Given the description of an element on the screen output the (x, y) to click on. 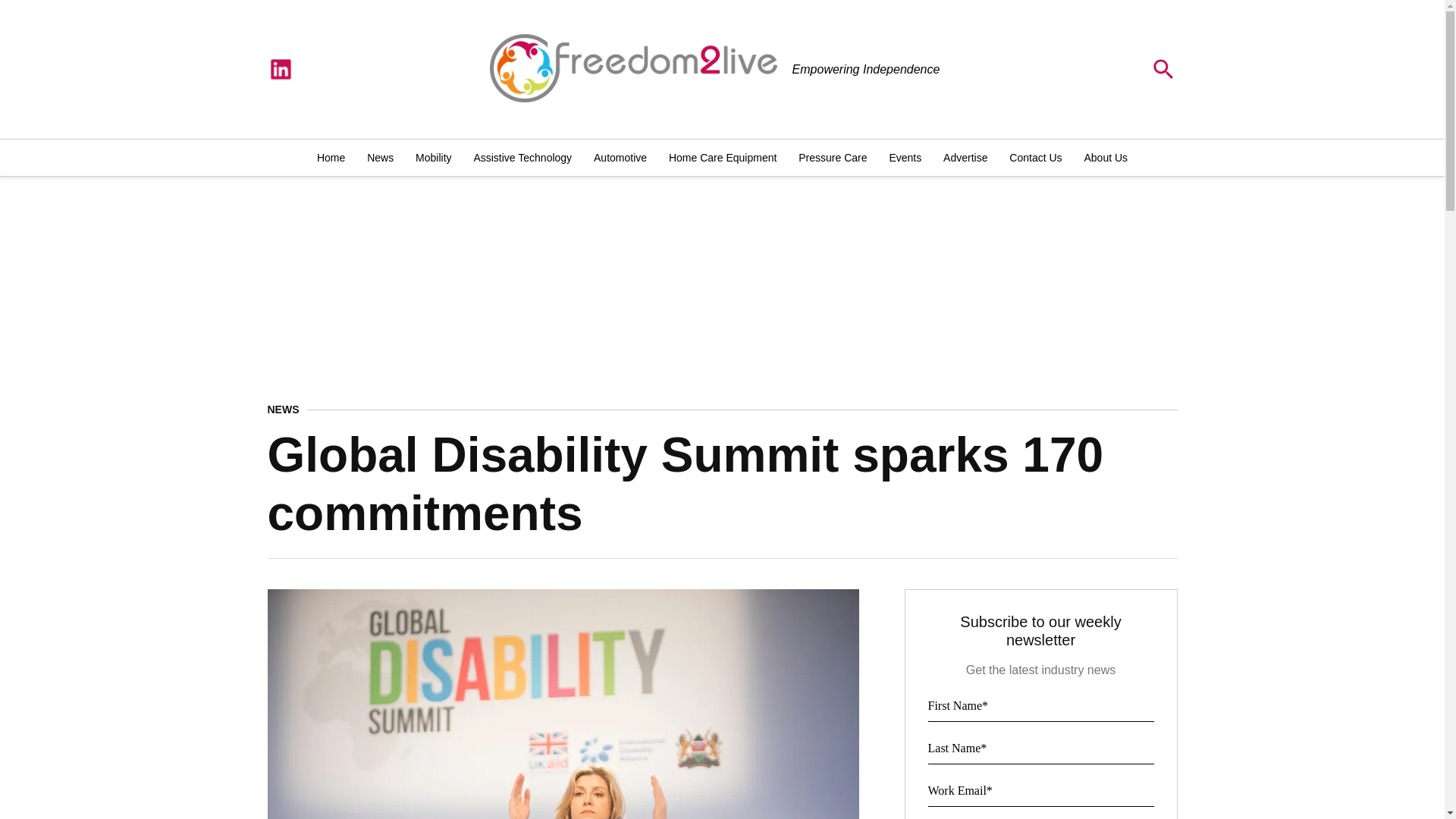
Events (904, 157)
Advertise (965, 157)
Home (334, 157)
Automotive (619, 157)
About Us (1102, 157)
Assistive Technology (522, 157)
Mobility (432, 157)
Home Care Equipment (722, 157)
